Given the description of an element on the screen output the (x, y) to click on. 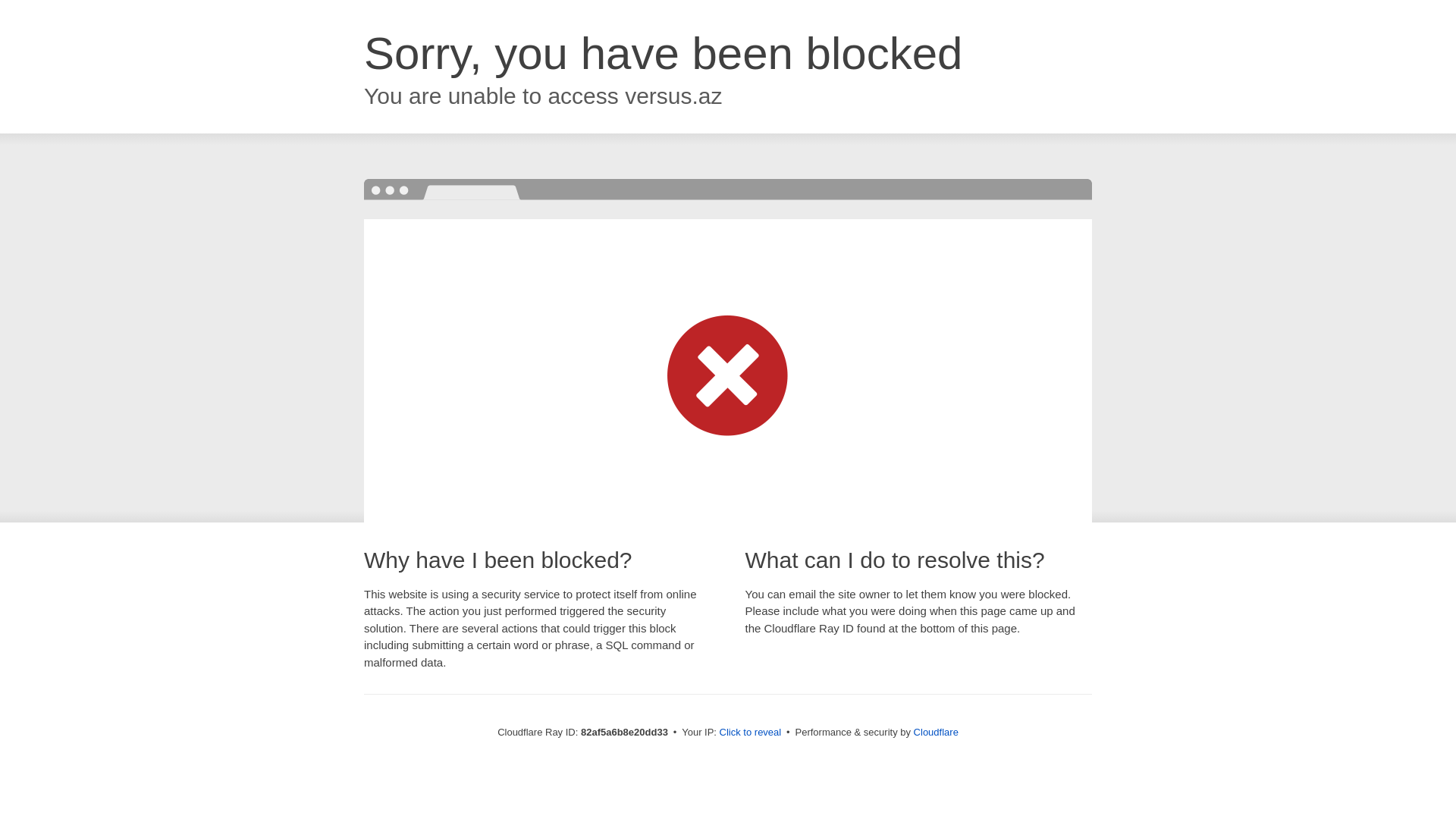
Click to reveal Element type: text (750, 732)
Cloudflare Element type: text (935, 731)
